Given the description of an element on the screen output the (x, y) to click on. 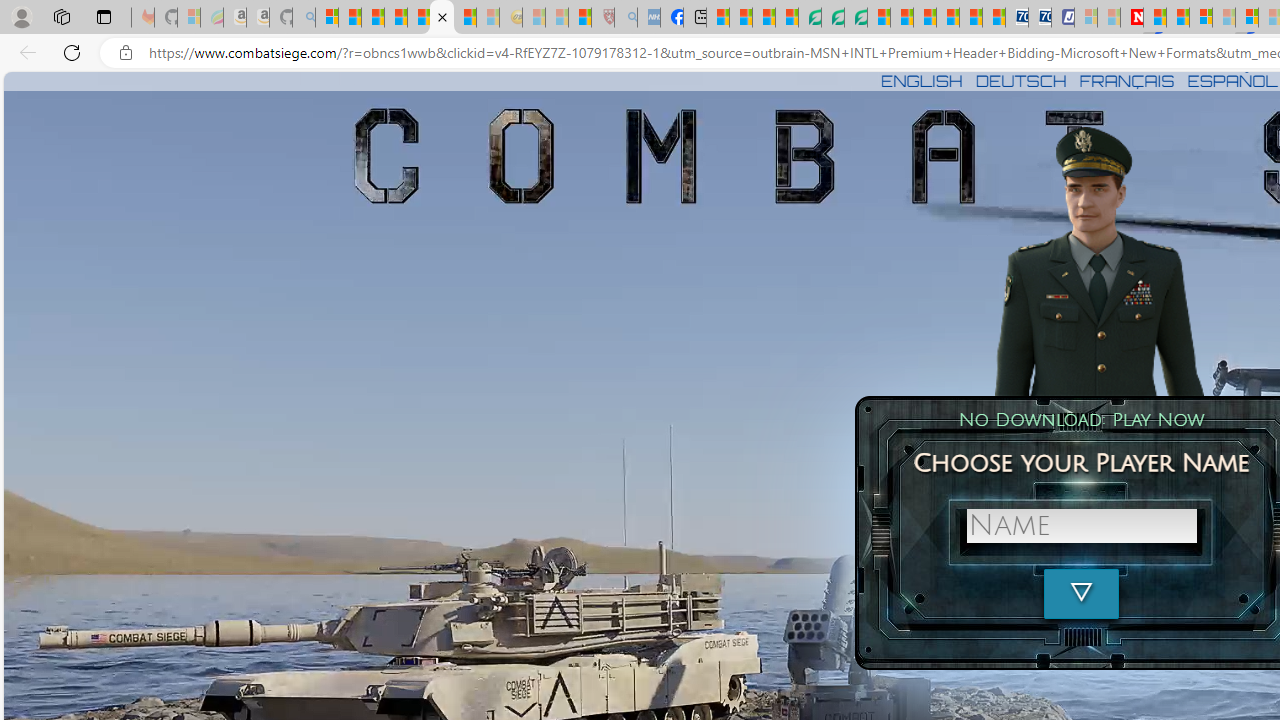
Latest Politics News & Archive | Newsweek.com (1132, 17)
Local - MSN (580, 17)
Terms of Use Agreement (832, 17)
Cheap Car Rentals - Save70.com (1016, 17)
